Given the description of an element on the screen output the (x, y) to click on. 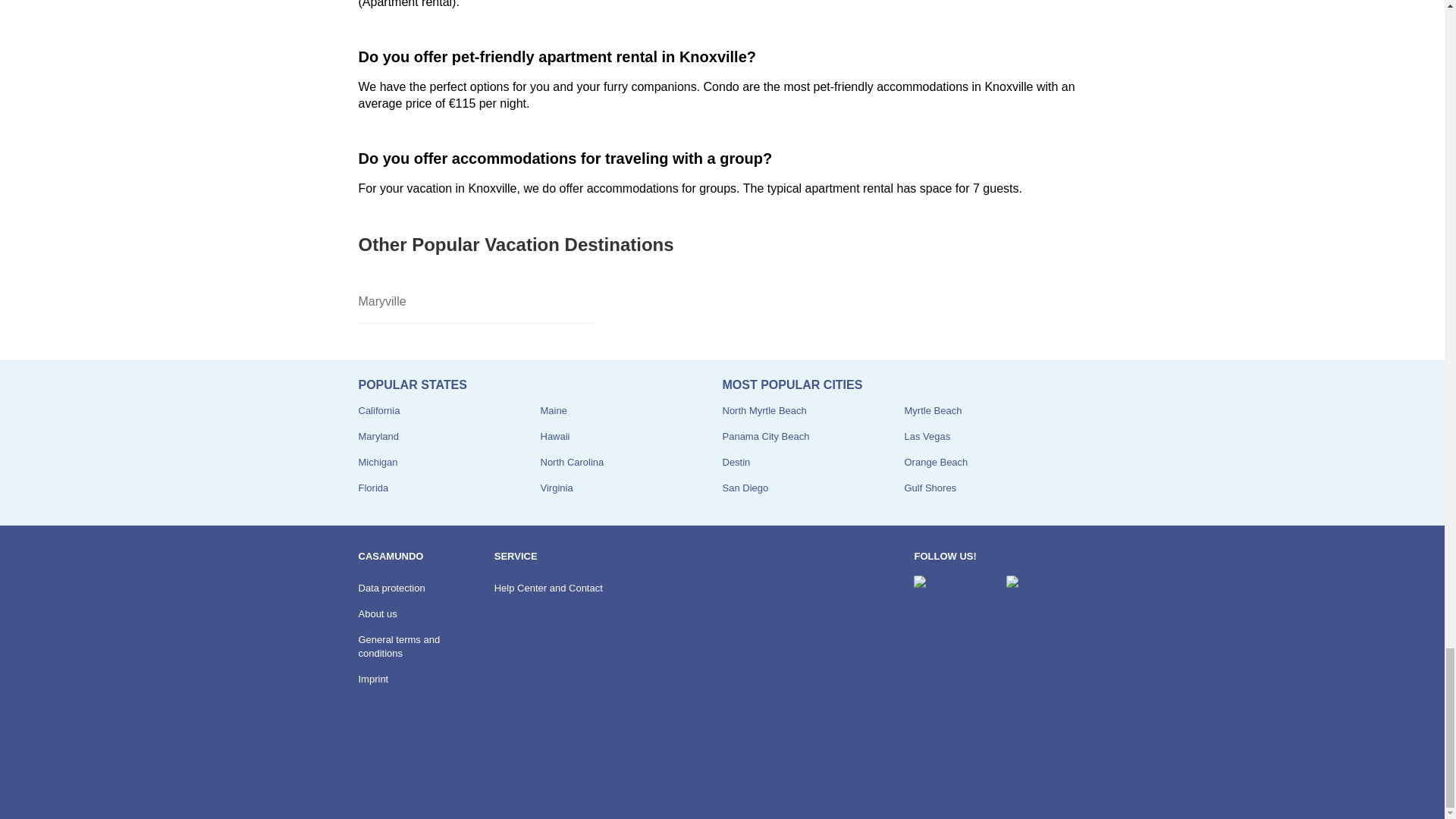
North Carolina (572, 461)
Maryville (475, 301)
Maryville (475, 301)
Maryland (377, 436)
Maine (553, 410)
California (378, 410)
Book holiday homes and apartments - Casamundo (399, 776)
Michigan (377, 461)
Casamundo on Facebook (953, 589)
Casamundo on Instagram (1046, 589)
Hawaii (554, 436)
